Given the description of an element on the screen output the (x, y) to click on. 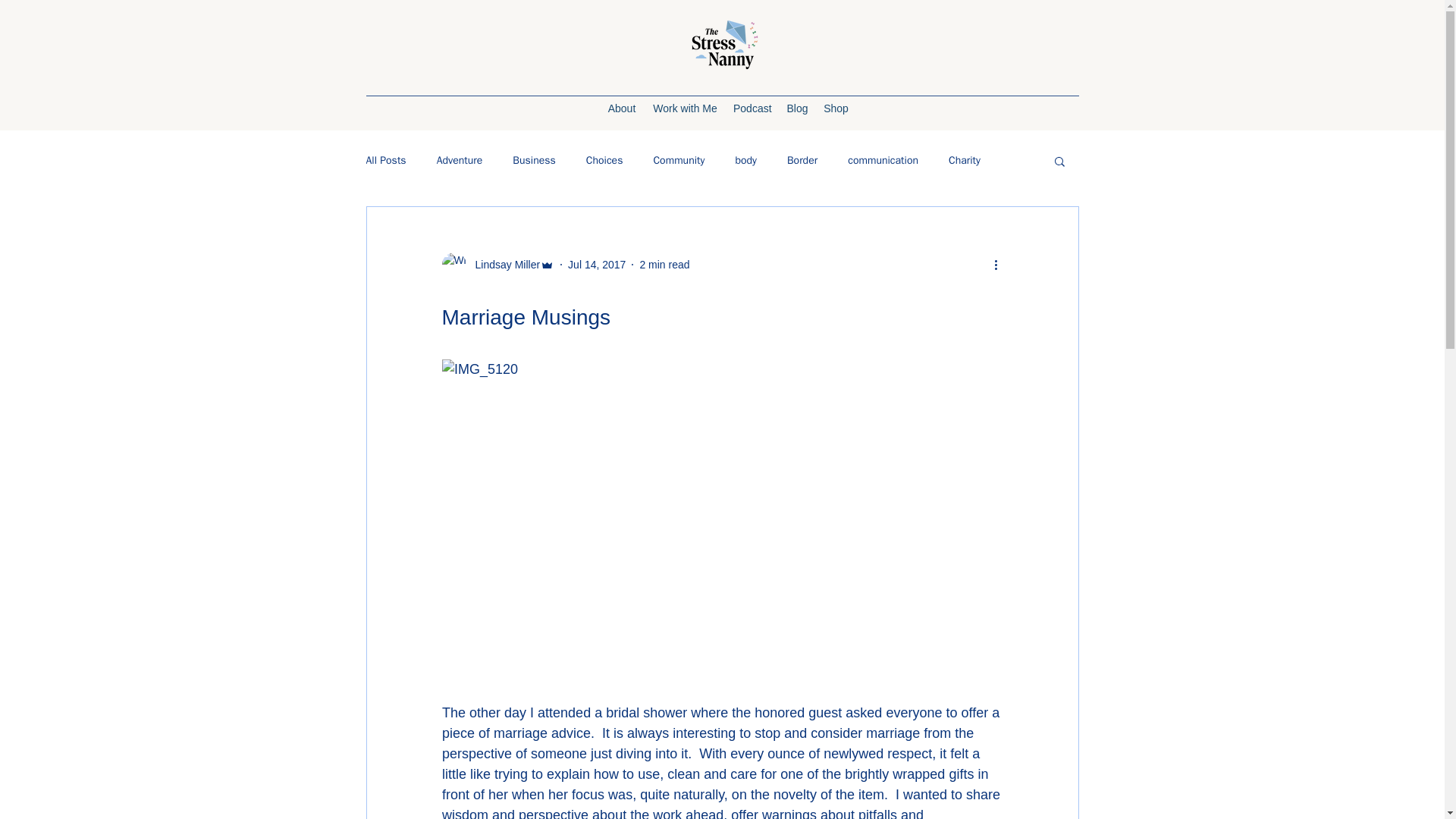
Shop (835, 108)
body (746, 160)
All Posts (385, 160)
Border (801, 160)
Business (533, 160)
Charity (964, 160)
communication (882, 160)
Choices (604, 160)
Lindsay Miller (502, 263)
Work with Me (685, 108)
